Given the description of an element on the screen output the (x, y) to click on. 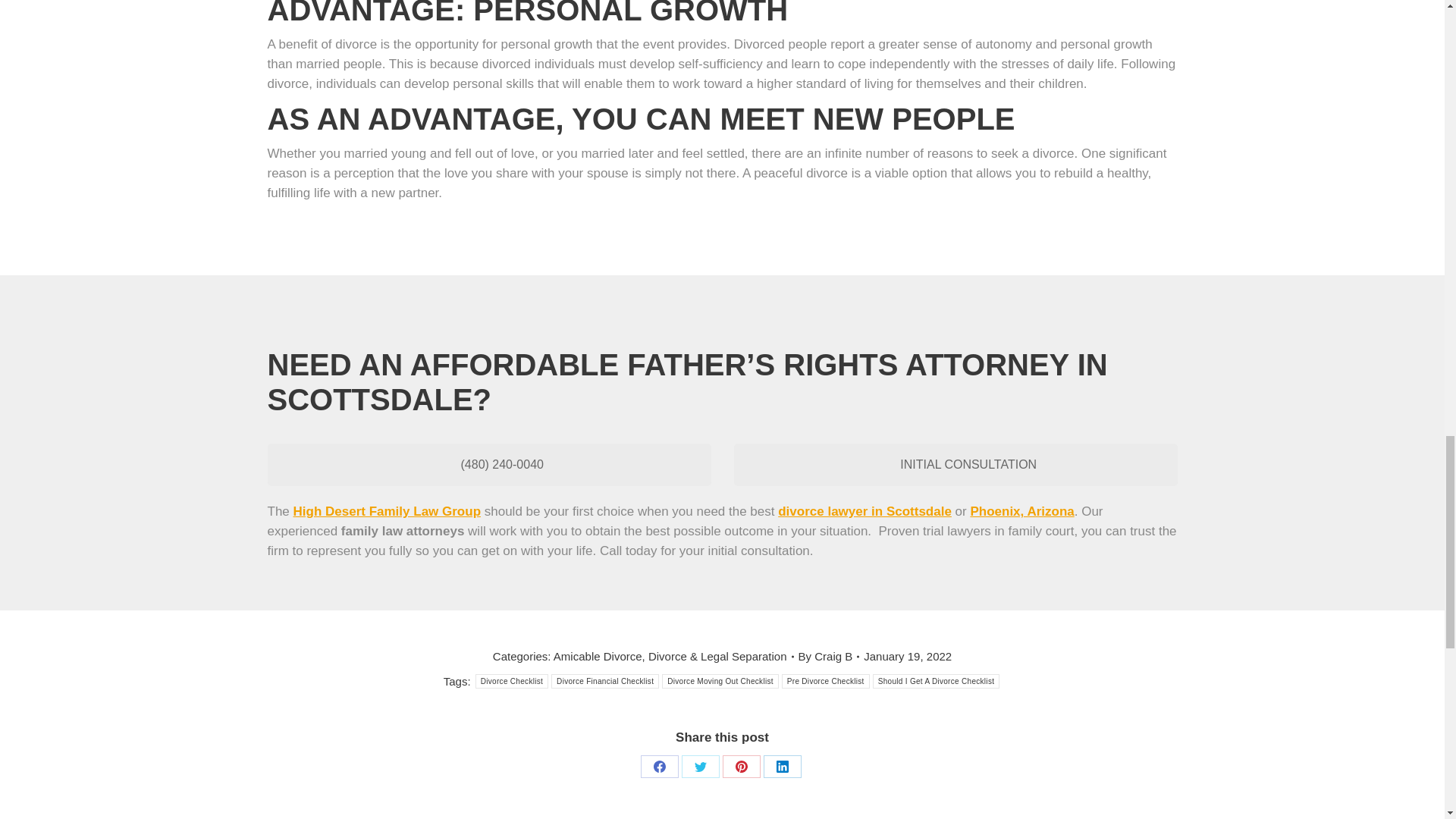
View all posts by Craig B (828, 656)
Facebook (659, 766)
Twitter (700, 766)
Pinterest (741, 766)
3:00 pm (907, 656)
LinkedIn (781, 766)
